Given the description of an element on the screen output the (x, y) to click on. 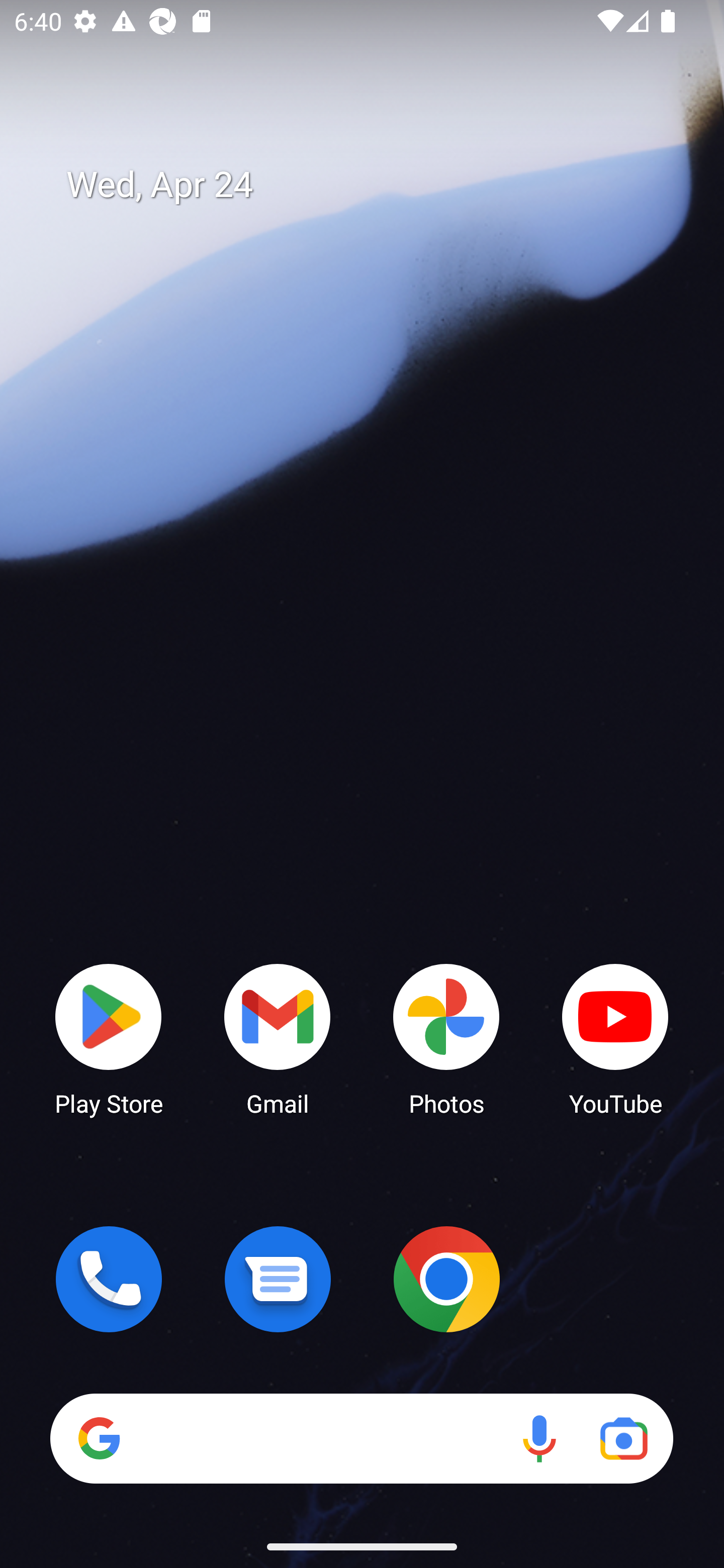
Wed, Apr 24 (375, 184)
Play Store (108, 1038)
Gmail (277, 1038)
Photos (445, 1038)
YouTube (615, 1038)
Phone (108, 1279)
Messages (277, 1279)
Chrome (446, 1279)
Search Voice search Google Lens (361, 1438)
Voice search (539, 1438)
Google Lens (623, 1438)
